Given the description of an element on the screen output the (x, y) to click on. 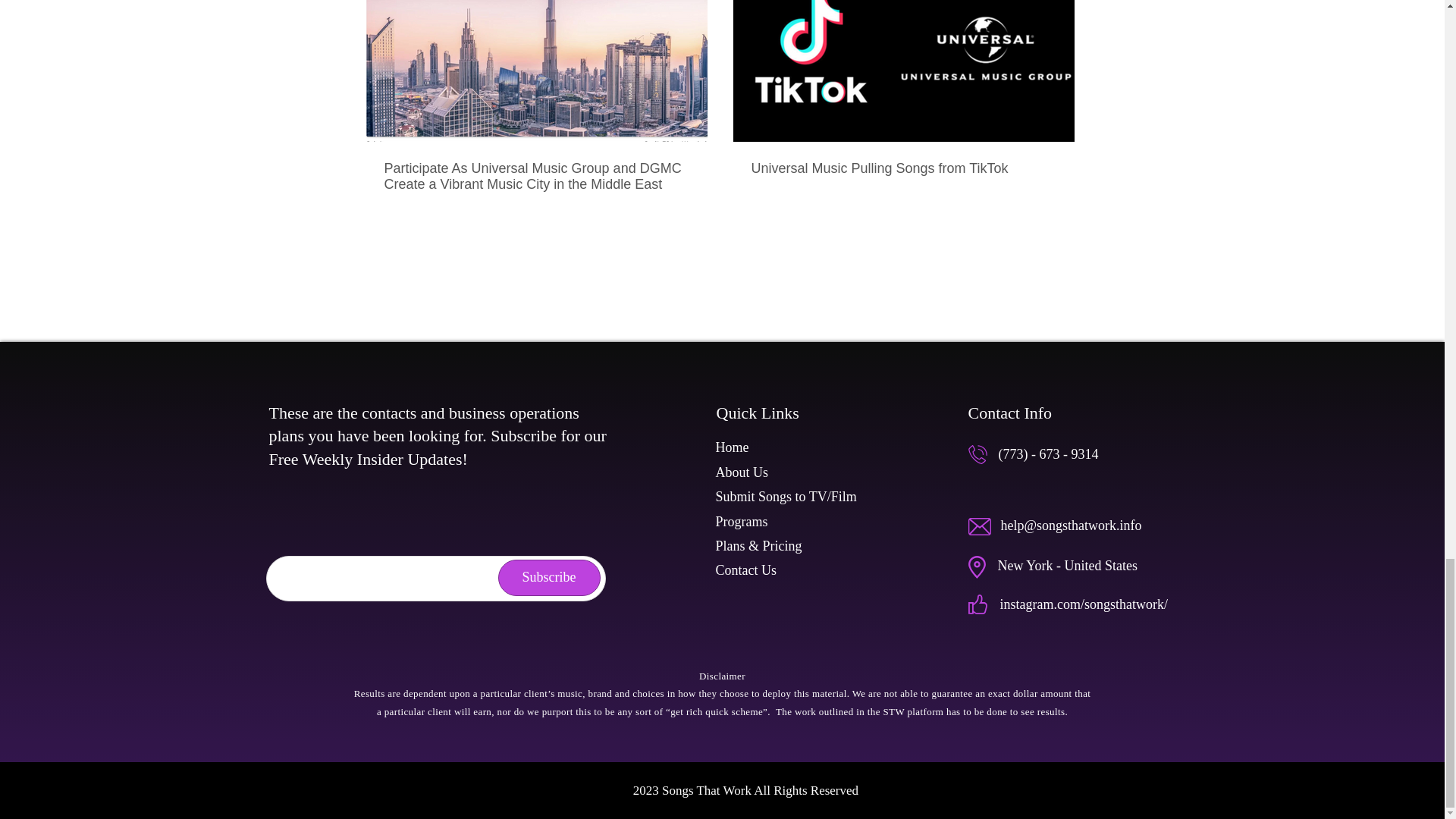
About Us (742, 472)
Universal Music Pulling Songs from TikTok (903, 168)
Subscribe (548, 577)
Contact Us (746, 570)
New York - United States (1067, 565)
Home (732, 447)
Programs (742, 521)
